Given the description of an element on the screen output the (x, y) to click on. 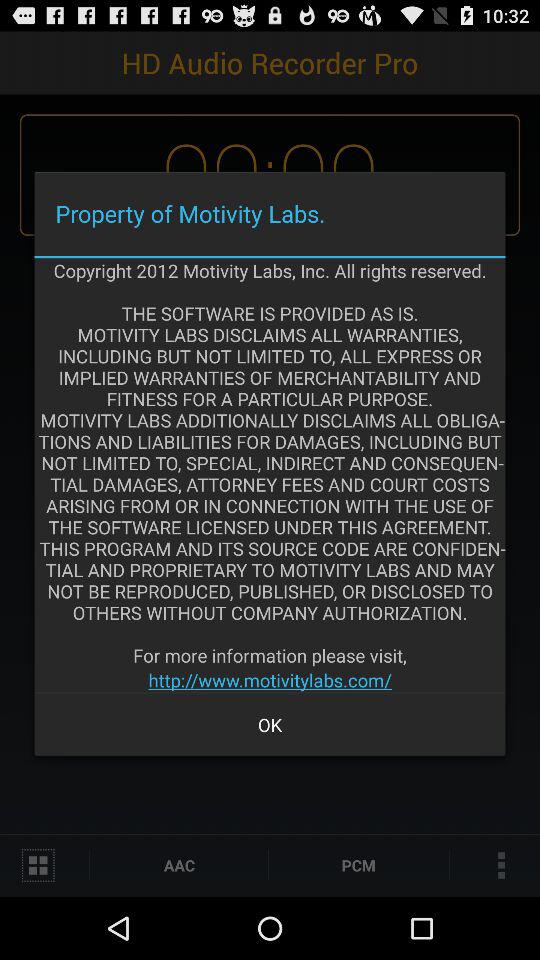
scroll to ok icon (269, 724)
